Given the description of an element on the screen output the (x, y) to click on. 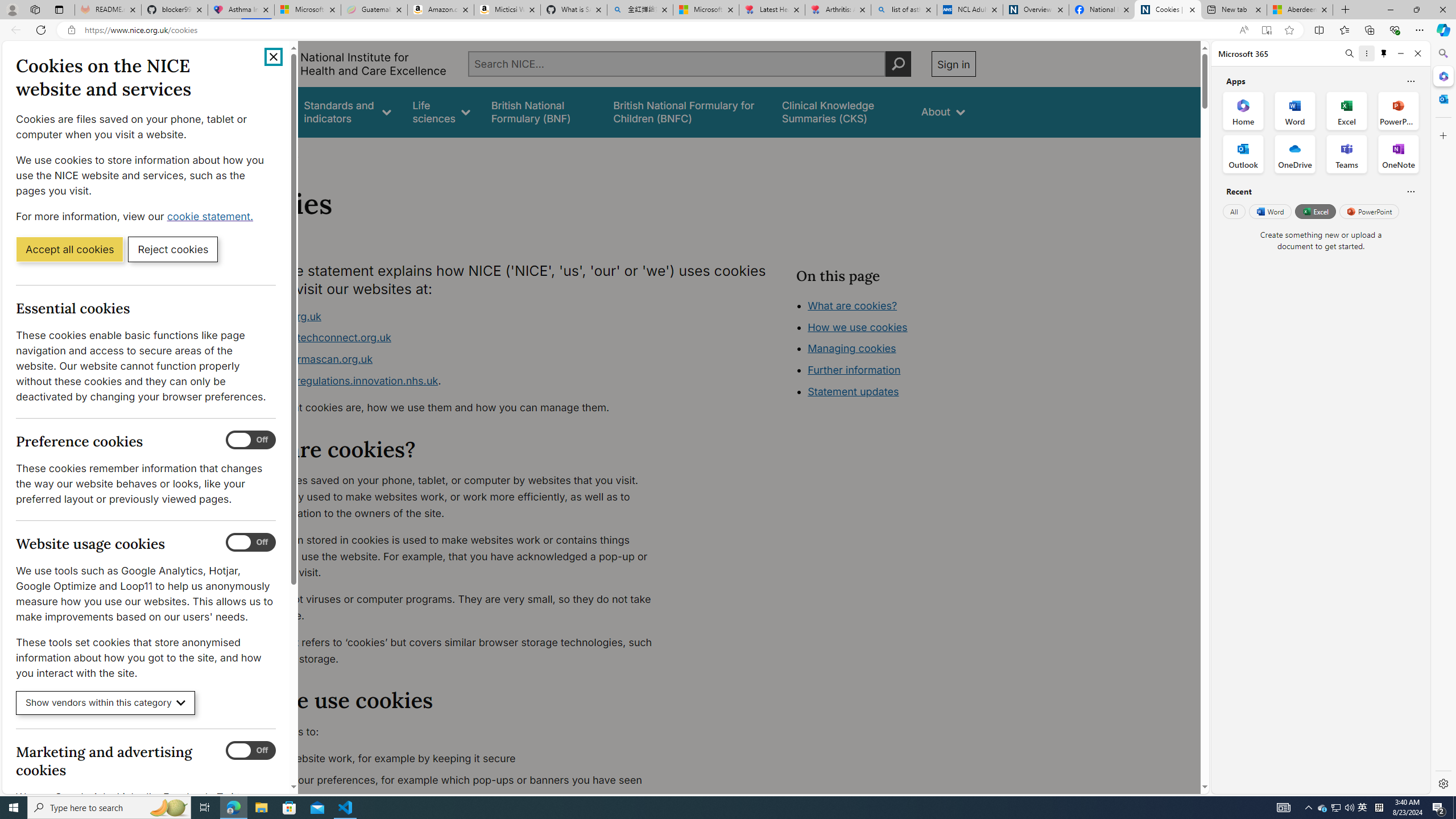
Show vendors within this category (105, 703)
PowerPoint Office App (1398, 110)
make our website work, for example by keeping it secure (452, 759)
www.nice.org.uk (279, 315)
Website usage cookies (250, 542)
Is this helpful? (1410, 191)
Word (1269, 210)
Close cookie banner (273, 56)
www.ukpharmascan.org.uk (305, 359)
